Given the description of an element on the screen output the (x, y) to click on. 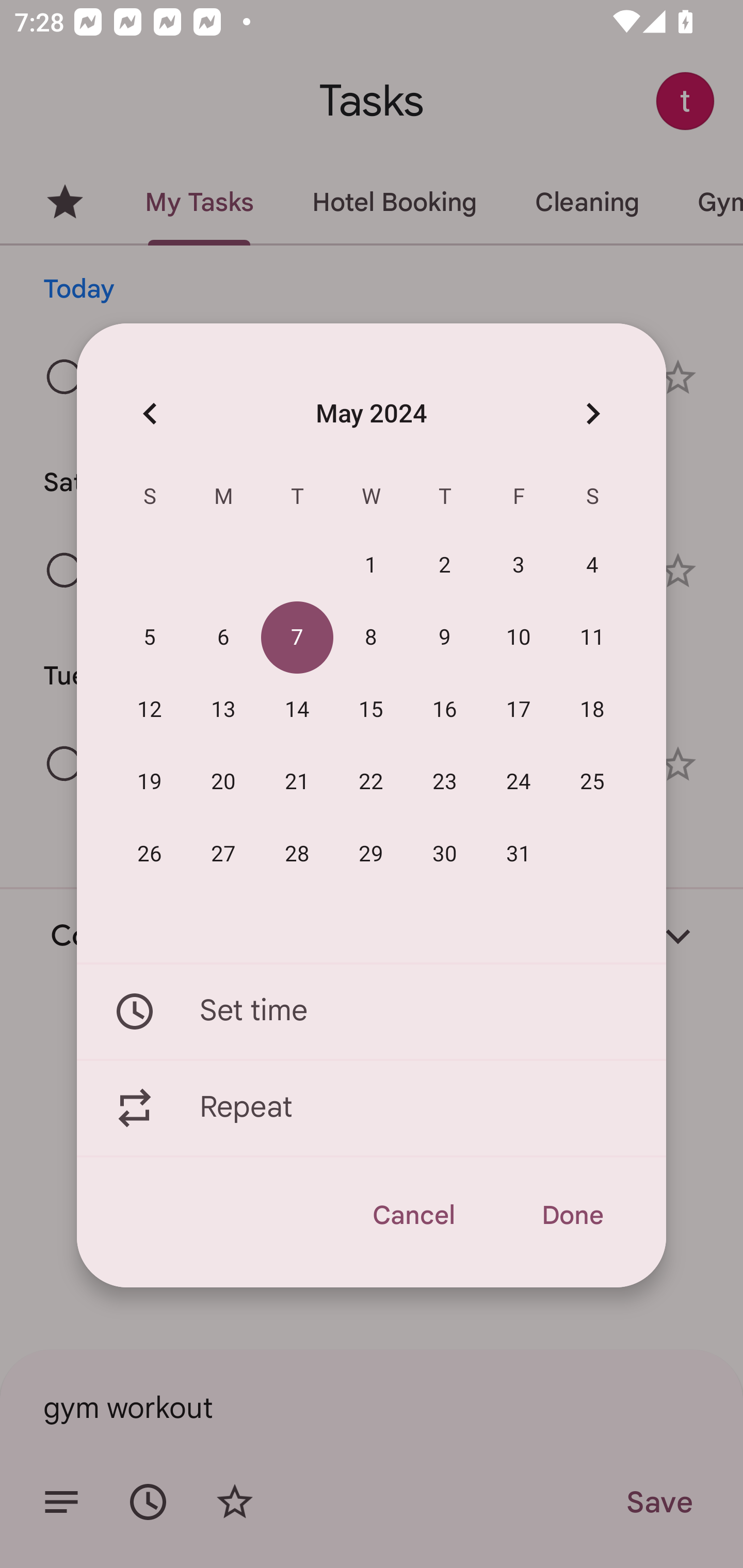
Previous month (149, 413)
Next month (592, 413)
1 01 May 2024 (370, 565)
2 02 May 2024 (444, 565)
3 03 May 2024 (518, 565)
4 04 May 2024 (592, 565)
5 05 May 2024 (149, 638)
6 06 May 2024 (223, 638)
7 07 May 2024 (297, 638)
8 08 May 2024 (370, 638)
9 09 May 2024 (444, 638)
10 10 May 2024 (518, 638)
11 11 May 2024 (592, 638)
12 12 May 2024 (149, 710)
13 13 May 2024 (223, 710)
14 14 May 2024 (297, 710)
15 15 May 2024 (370, 710)
16 16 May 2024 (444, 710)
17 17 May 2024 (518, 710)
18 18 May 2024 (592, 710)
19 19 May 2024 (149, 782)
20 20 May 2024 (223, 782)
21 21 May 2024 (297, 782)
22 22 May 2024 (370, 782)
23 23 May 2024 (444, 782)
24 24 May 2024 (518, 782)
25 25 May 2024 (592, 782)
26 26 May 2024 (149, 854)
27 27 May 2024 (223, 854)
28 28 May 2024 (297, 854)
29 29 May 2024 (370, 854)
30 30 May 2024 (444, 854)
31 31 May 2024 (518, 854)
Set time (371, 1011)
Repeat (371, 1108)
Cancel (412, 1215)
Done (571, 1215)
